Given the description of an element on the screen output the (x, y) to click on. 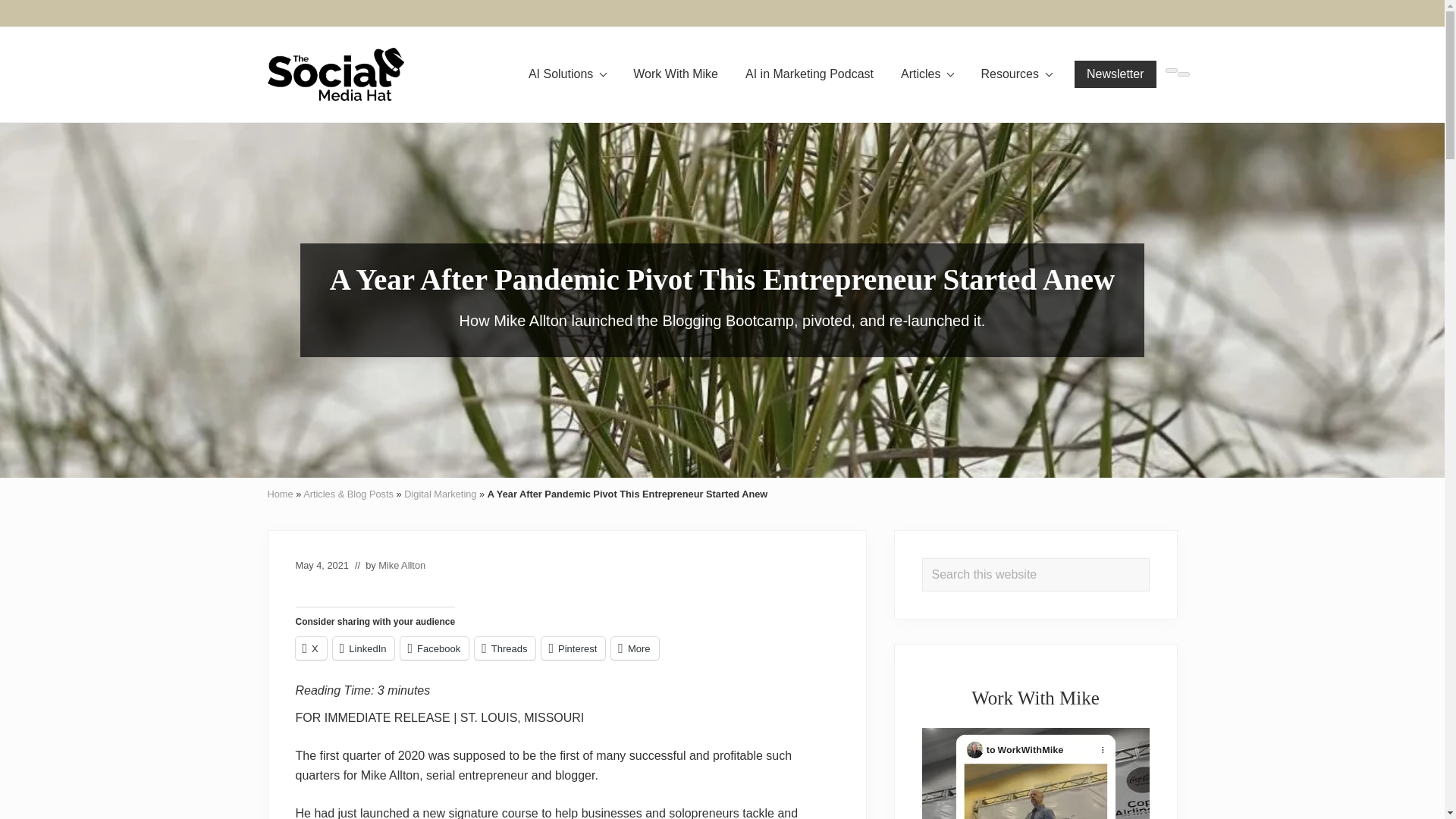
AI Solutions (566, 73)
TikTok (1123, 12)
Twitter (1151, 12)
AI in Marketing Podcast (809, 73)
YouTube (1180, 12)
Click to share on LinkedIn (363, 648)
Instagram (979, 12)
Pinterest (1036, 12)
Click to share on X (310, 648)
TikTok (1122, 12)
RSS (1064, 12)
LinkedIn (1007, 12)
Click to share on Threads (504, 648)
